Given the description of an element on the screen output the (x, y) to click on. 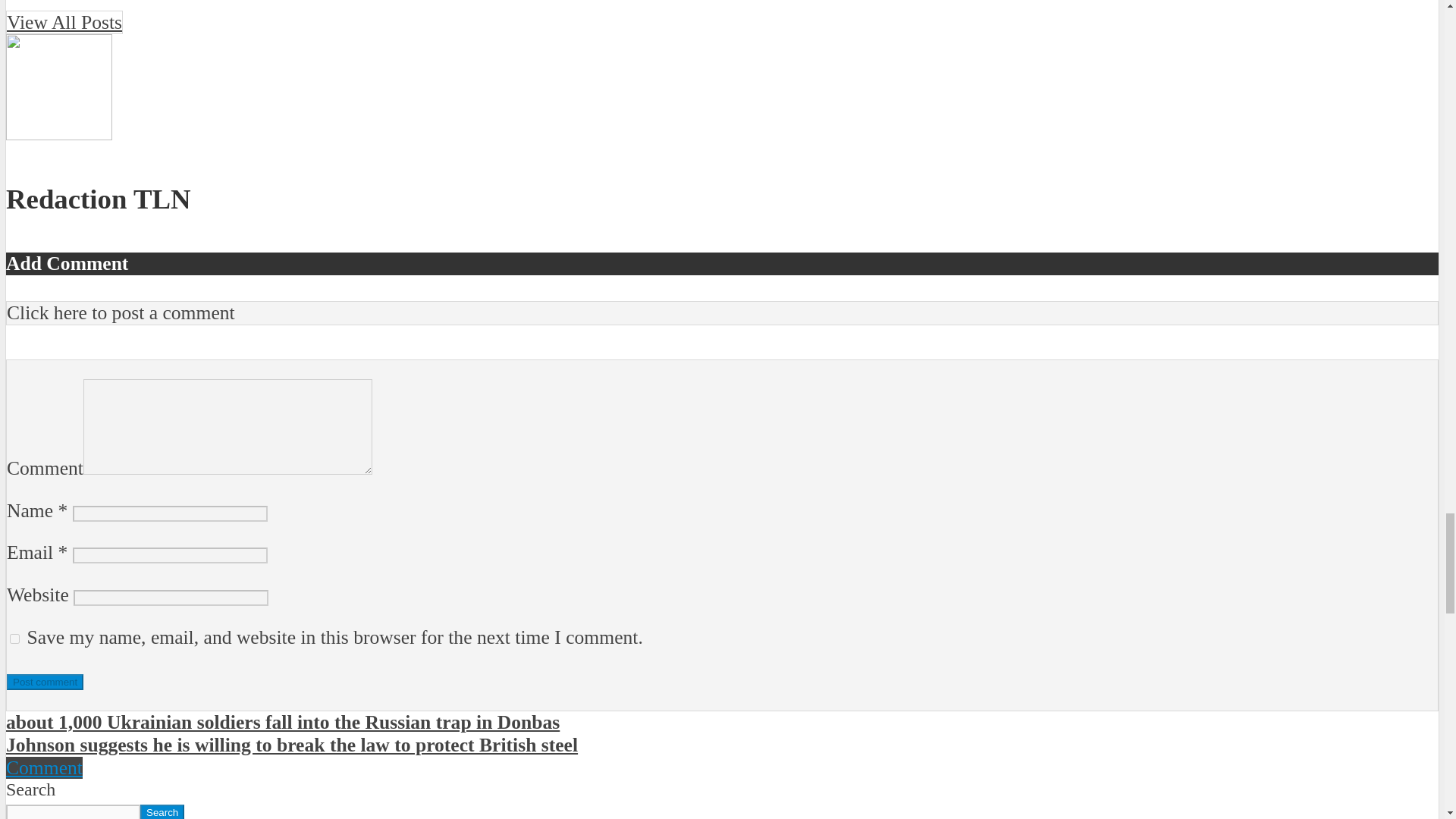
yes (15, 638)
Post comment (44, 682)
